Given the description of an element on the screen output the (x, y) to click on. 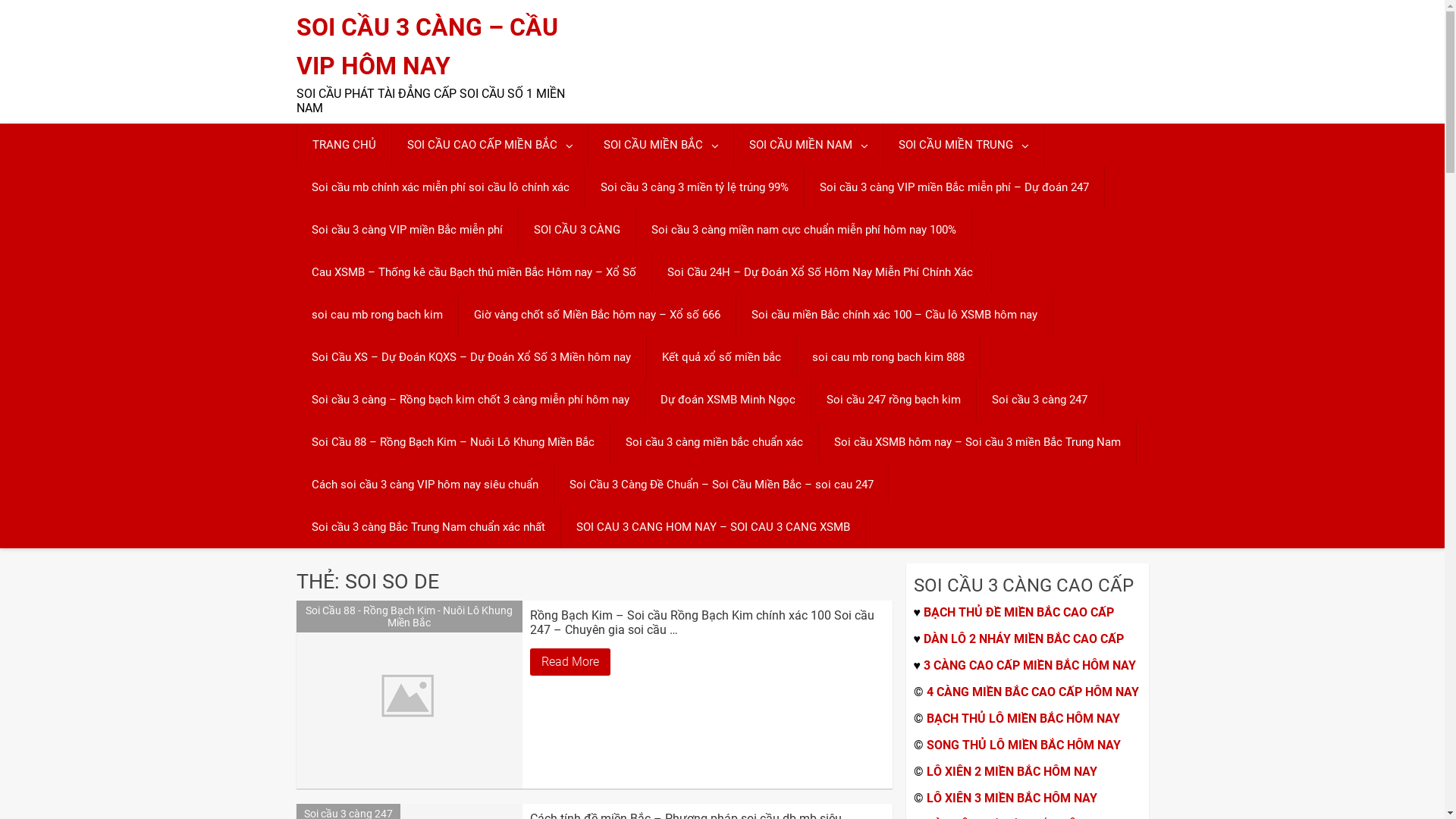
soi cau mb rong bach kim 888 Element type: text (887, 356)
Read More Element type: text (569, 661)
soi cau mb rong bach kim Element type: text (376, 314)
